Given the description of an element on the screen output the (x, y) to click on. 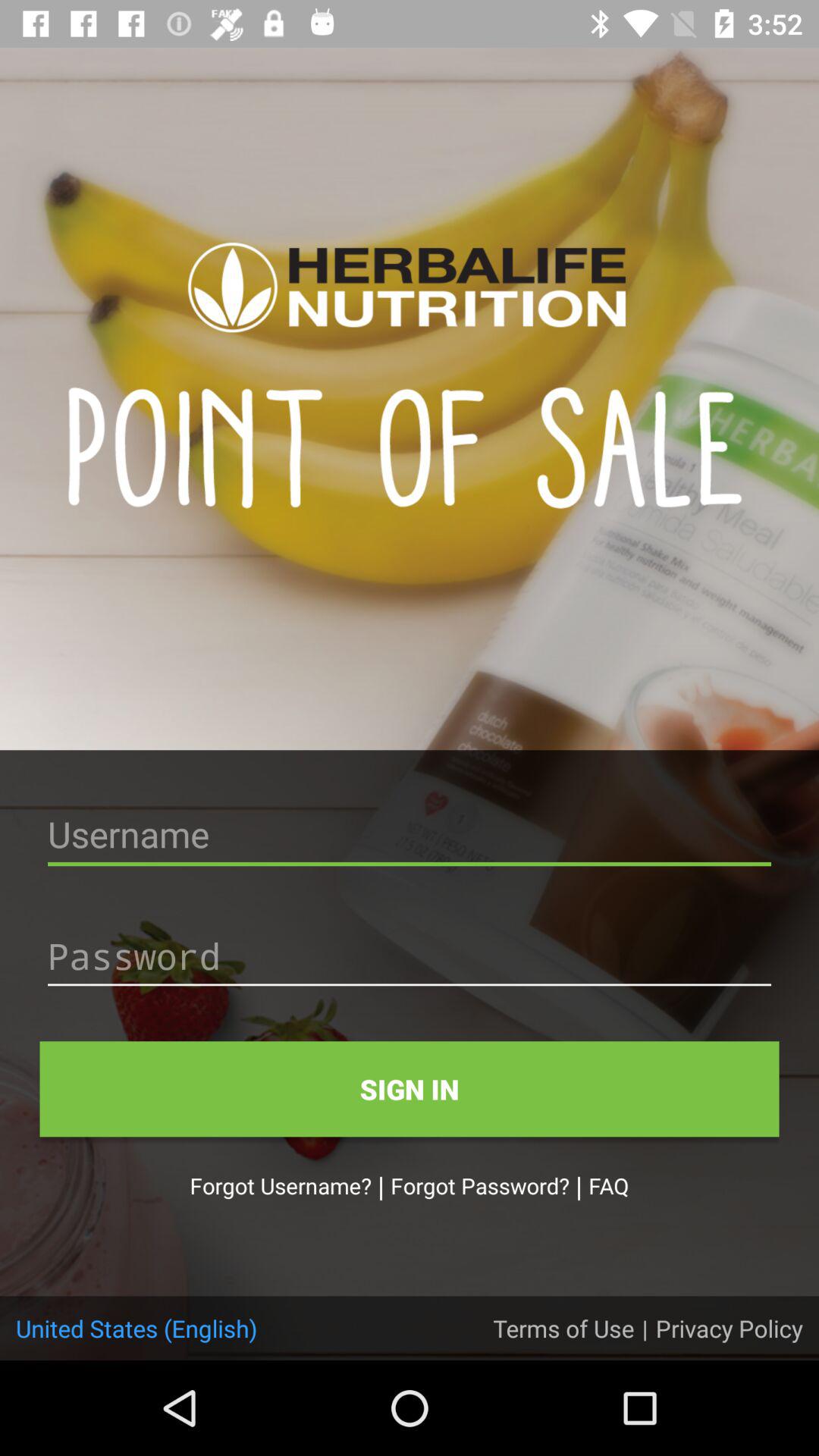
launch united states (english) item (136, 1328)
